Given the description of an element on the screen output the (x, y) to click on. 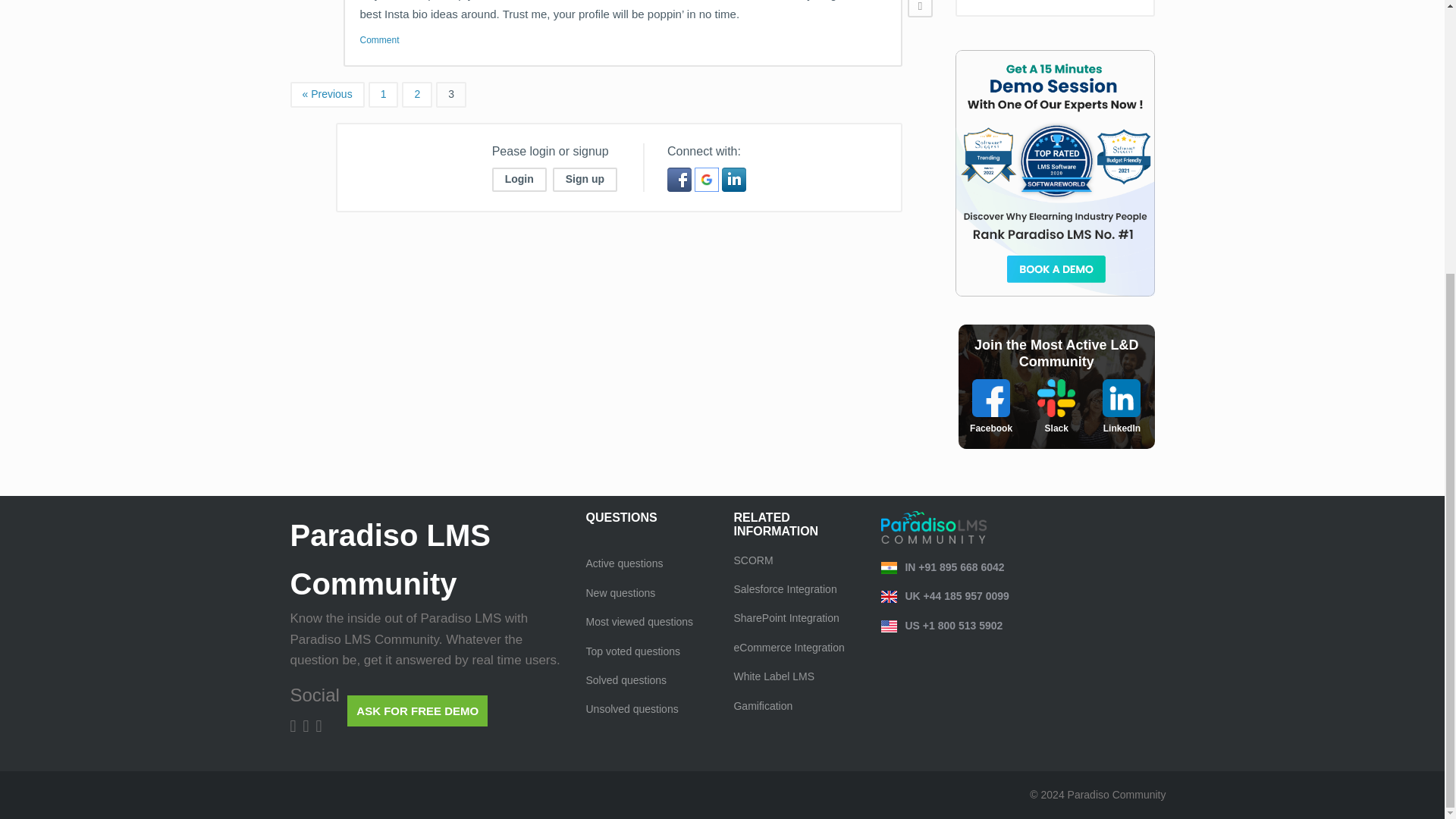
Down vote this post (920, 8)
